Given the description of an element on the screen output the (x, y) to click on. 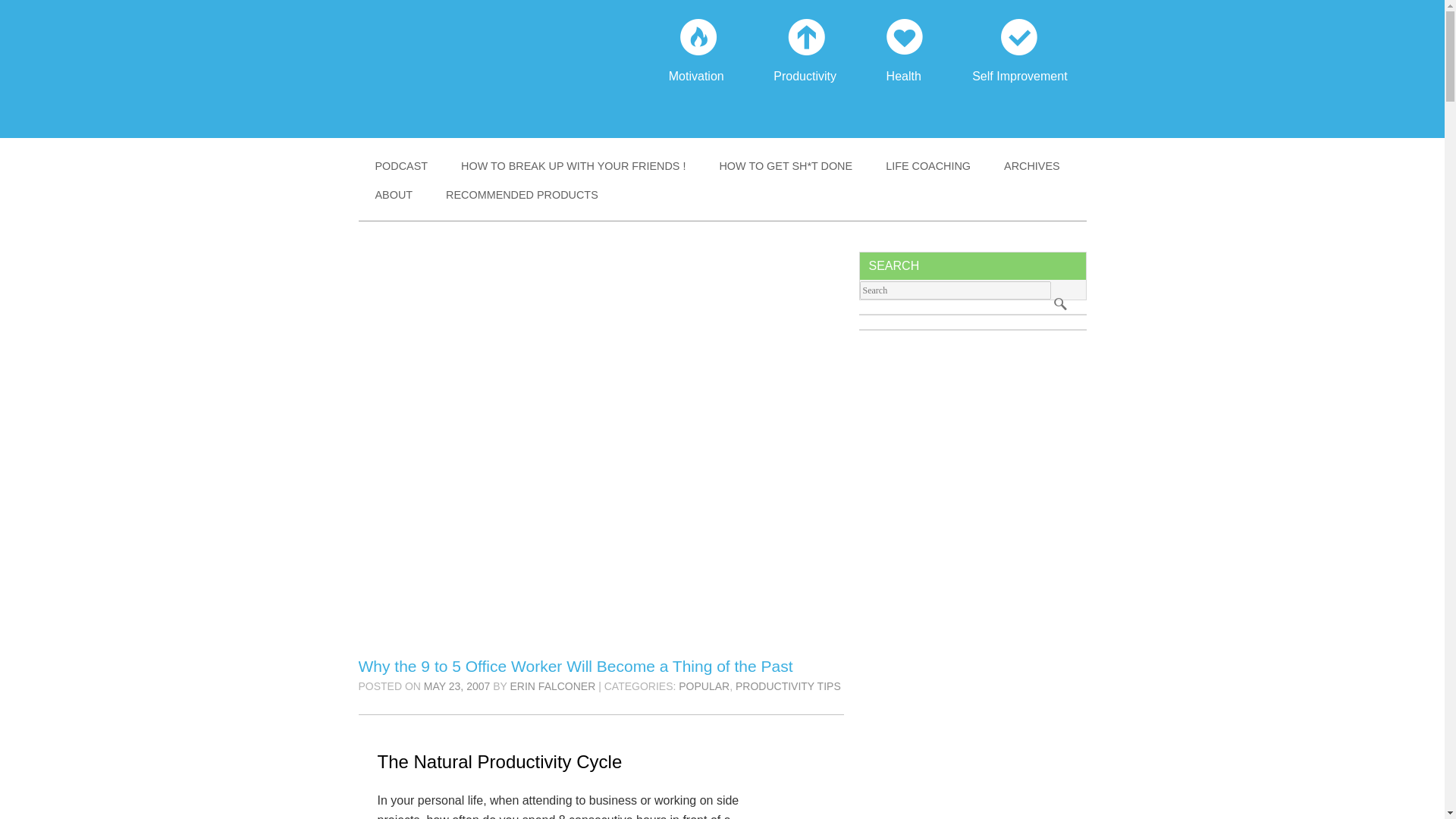
ARCHIVES (1032, 165)
LIFE COACHING (928, 165)
View all posts in productivity tips (788, 685)
RECOMMENDED PRODUCTS (521, 194)
MAY 23, 2007 (456, 685)
View all posts in popular (703, 685)
4:45 am (456, 685)
POPULAR (703, 685)
PODCAST (401, 165)
HOW TO BREAK UP WITH YOUR FRIENDS ! (695, 60)
View all posts by Erin Falconer (572, 165)
PRODUCTIVITY TIPS (1019, 60)
ERIN FALCONER (553, 685)
